Given the description of an element on the screen output the (x, y) to click on. 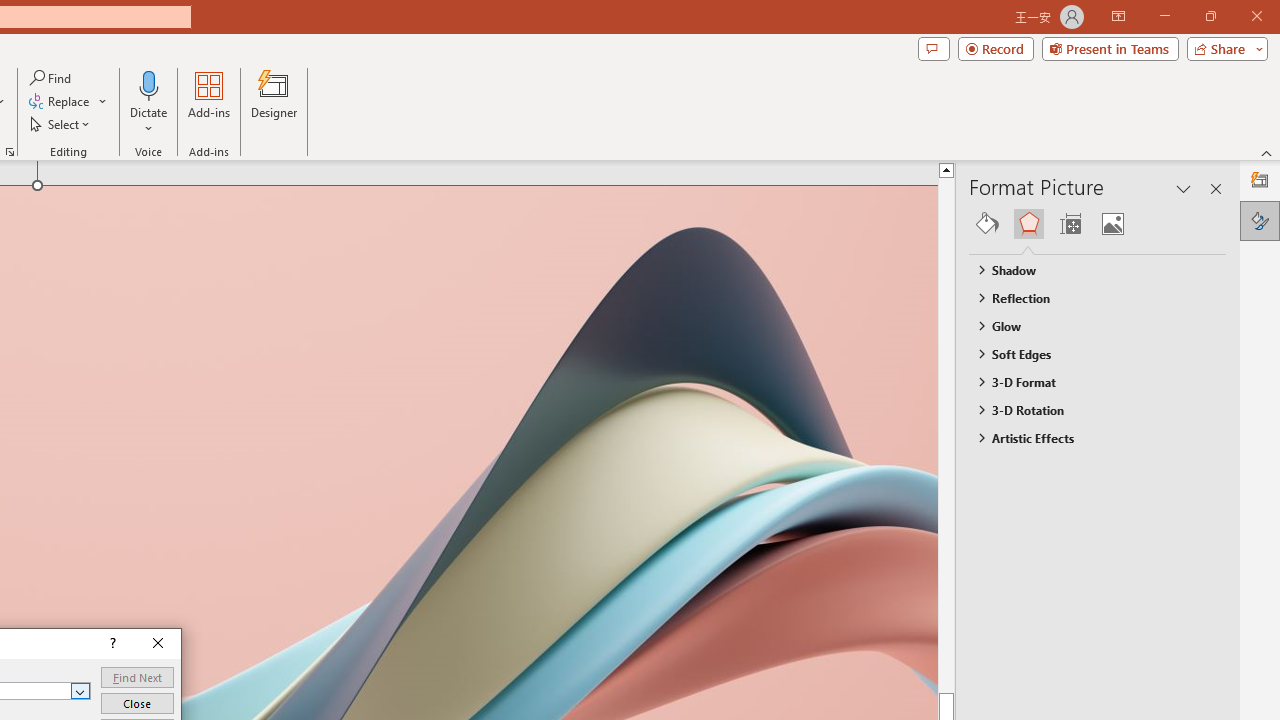
Class: NetUIGalleryContainer (1098, 223)
Format Picture (1260, 220)
Picture (1112, 223)
Soft Edges (1088, 353)
Find Next (137, 677)
